Given the description of an element on the screen output the (x, y) to click on. 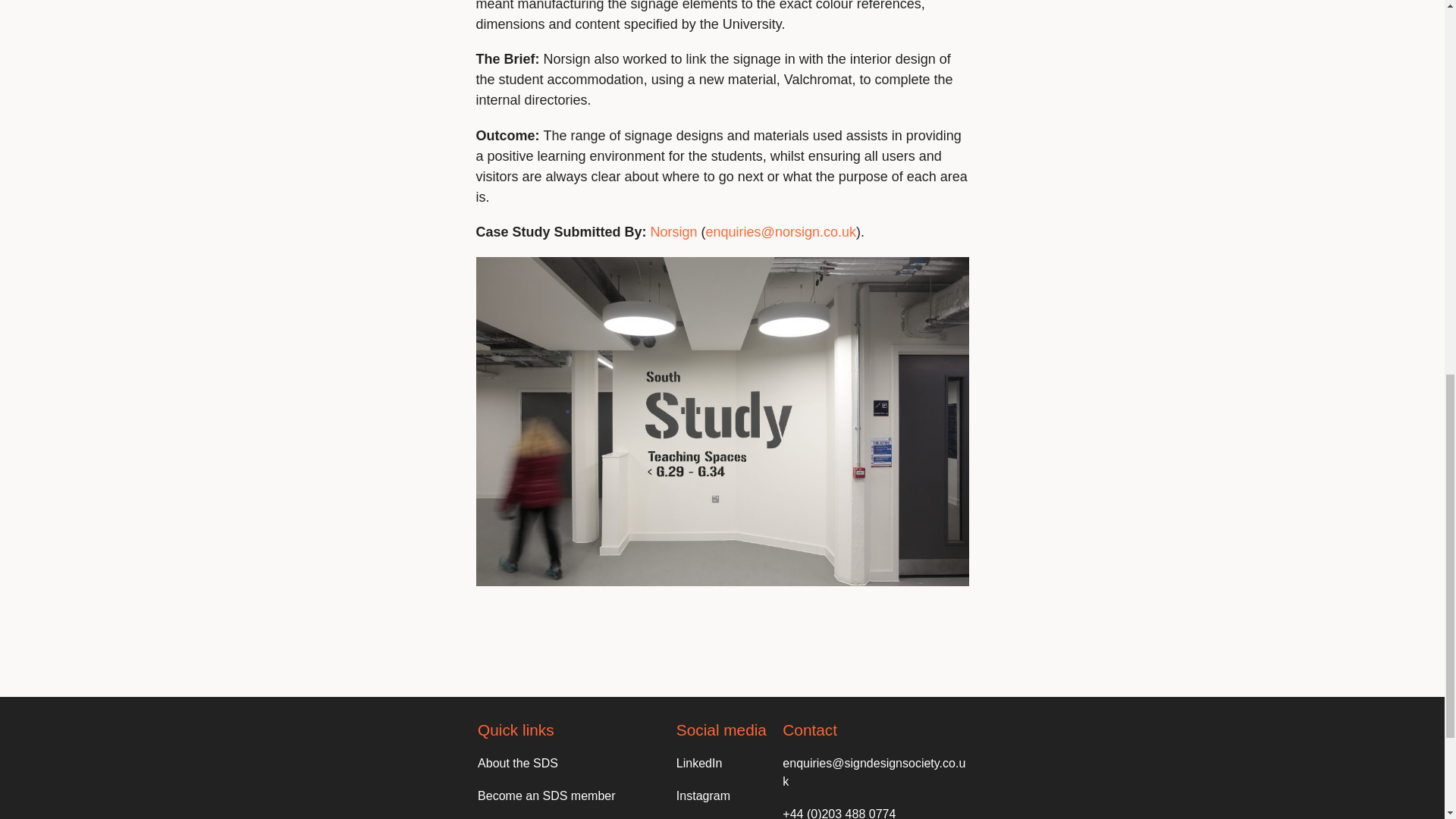
Become an SDS member (545, 795)
About the SDS (517, 762)
LinkedIn (699, 762)
Norsign (673, 231)
